Given the description of an element on the screen output the (x, y) to click on. 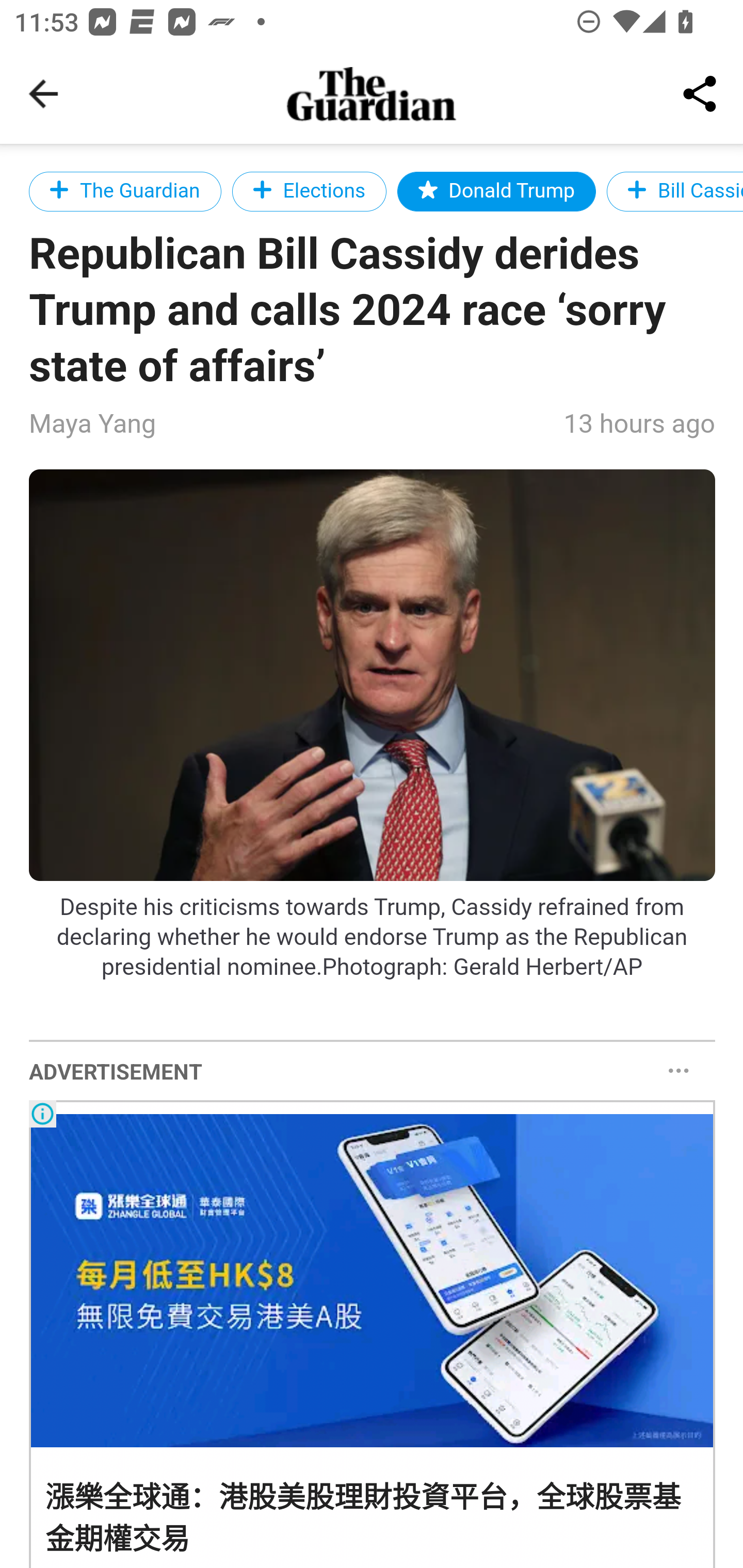
The Guardian (125, 191)
Elections (309, 191)
Donald Trump (496, 191)
